Given the description of an element on the screen output the (x, y) to click on. 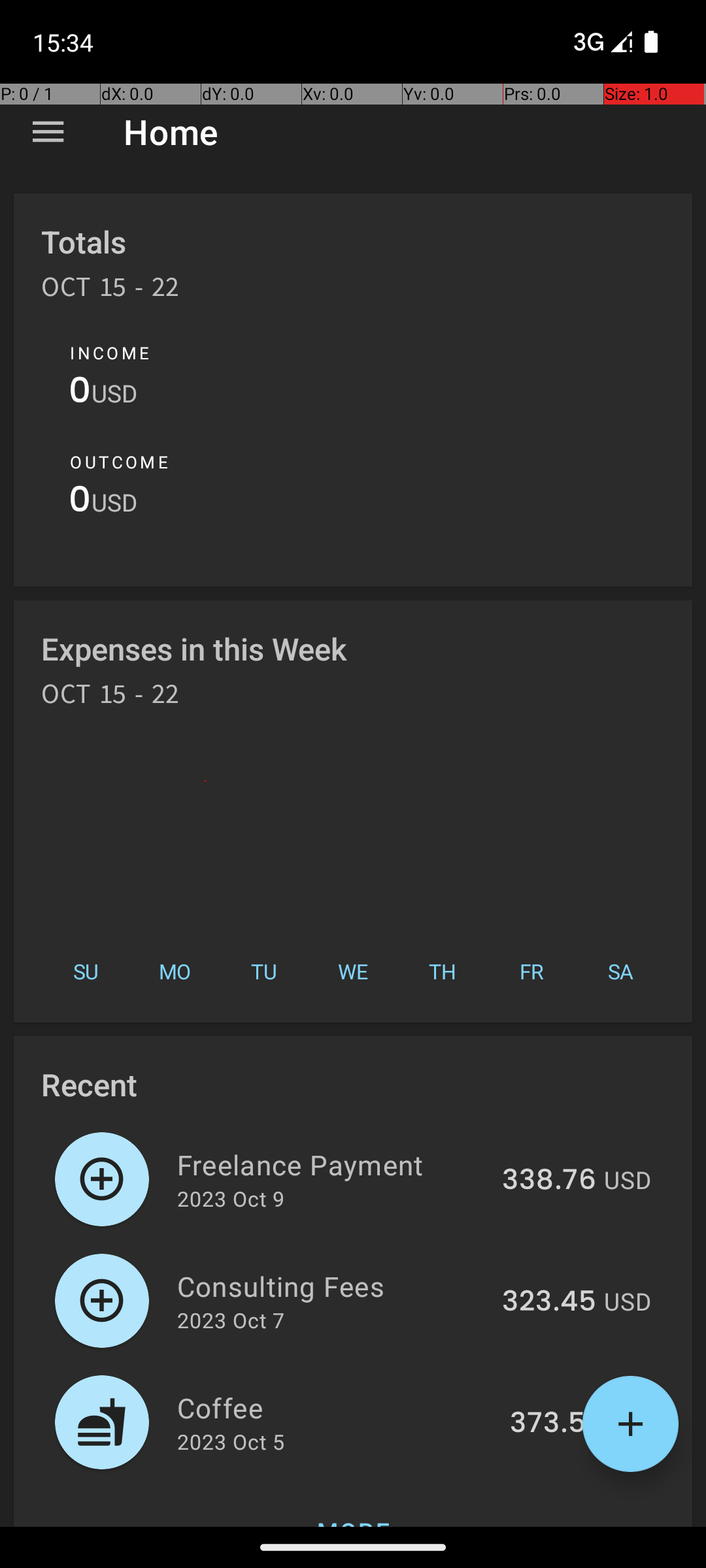
MORE Element type: android.widget.Button (352, 1504)
2023 Oct 9 Element type: android.widget.TextView (230, 1198)
338.76 Element type: android.widget.TextView (548, 1180)
Consulting Fees Element type: android.widget.TextView (331, 1285)
2023 Oct 7 Element type: android.widget.TextView (230, 1320)
323.45 Element type: android.widget.TextView (548, 1301)
Coffee Element type: android.widget.TextView (335, 1407)
2023 Oct 5 Element type: android.widget.TextView (230, 1441)
373.51 Element type: android.widget.TextView (552, 1423)
